Given the description of an element on the screen output the (x, y) to click on. 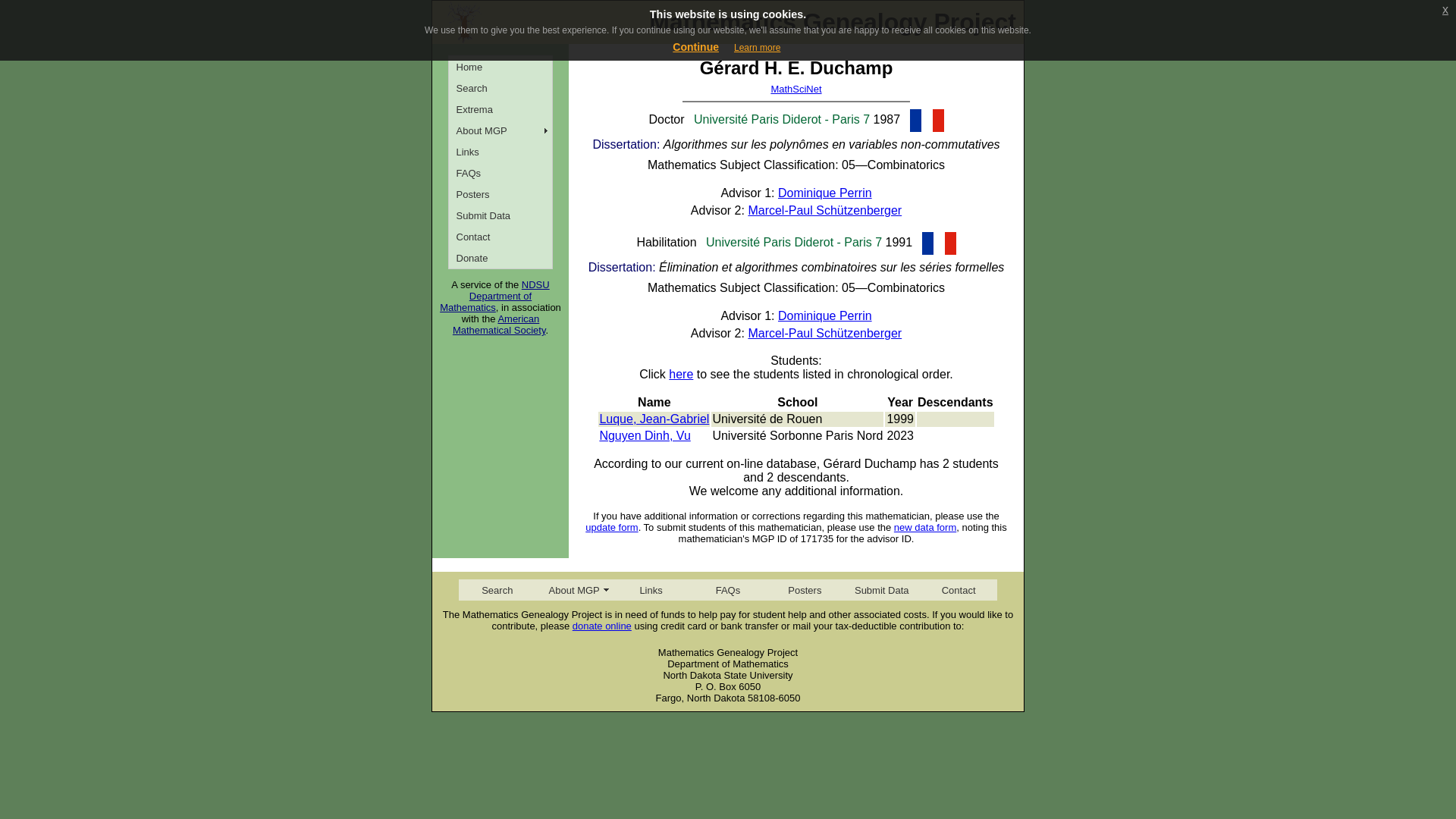
About MGP (500, 129)
Nguyen Dinh, Vu (644, 435)
Home (500, 66)
Dominique Perrin (824, 315)
MathSciNet (795, 89)
FAQs (500, 172)
here (680, 373)
Department of Mathematics (485, 301)
Search (500, 87)
Luque, Jean-Gabriel (653, 418)
Extrema (500, 108)
France (926, 119)
American Mathematical Society (499, 323)
FAQs (726, 589)
Links (500, 151)
